Given the description of an element on the screen output the (x, y) to click on. 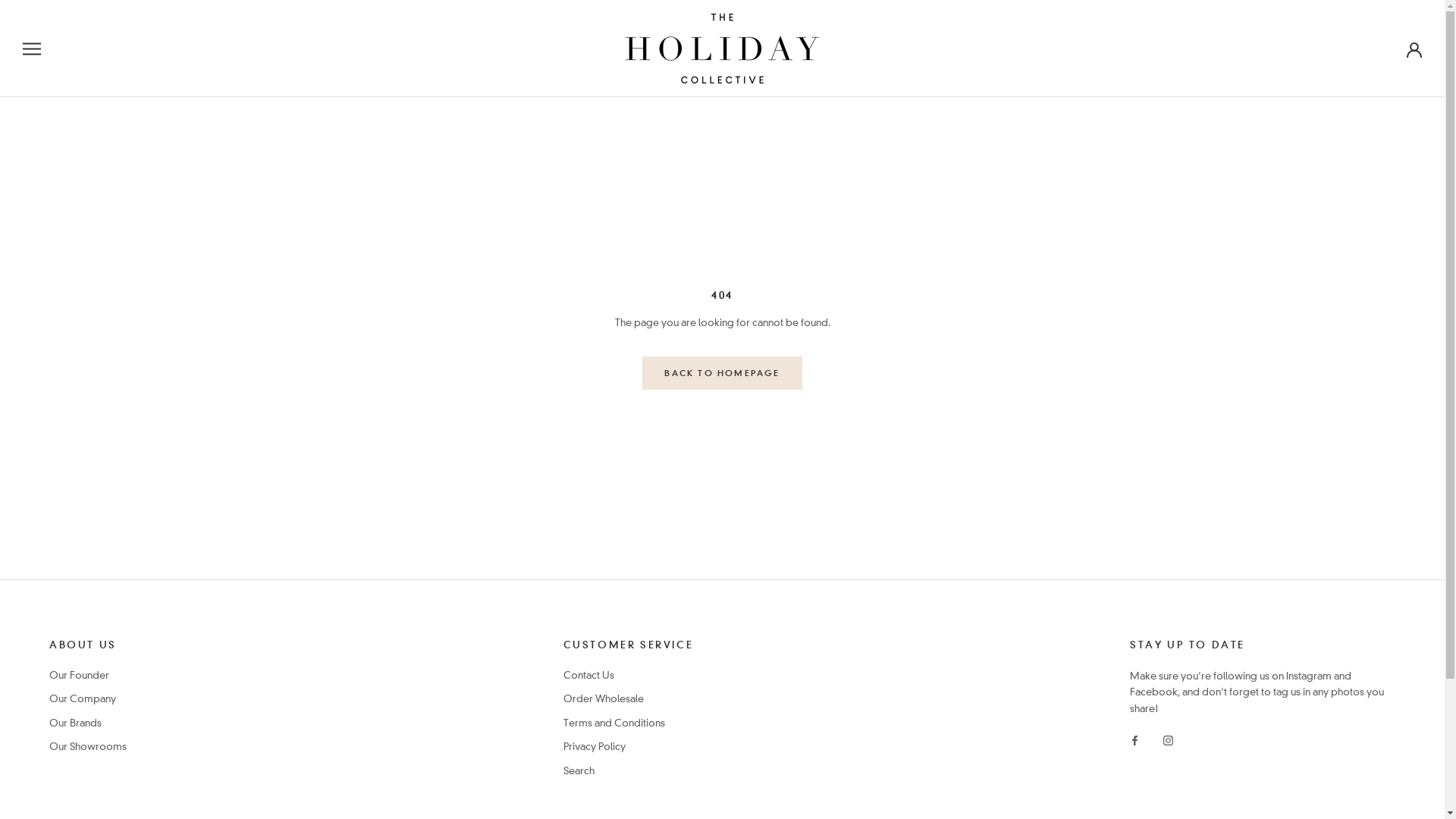
Our Showrooms Element type: text (87, 746)
Contact Us Element type: text (628, 675)
Search Element type: text (628, 770)
Terms and Conditions Element type: text (628, 723)
BACK TO HOMEPAGE Element type: text (721, 372)
Our Brands Element type: text (87, 723)
Privacy Policy Element type: text (628, 746)
Order Wholesale Element type: text (628, 698)
Our Company Element type: text (87, 698)
Our Founder Element type: text (87, 675)
